Given the description of an element on the screen output the (x, y) to click on. 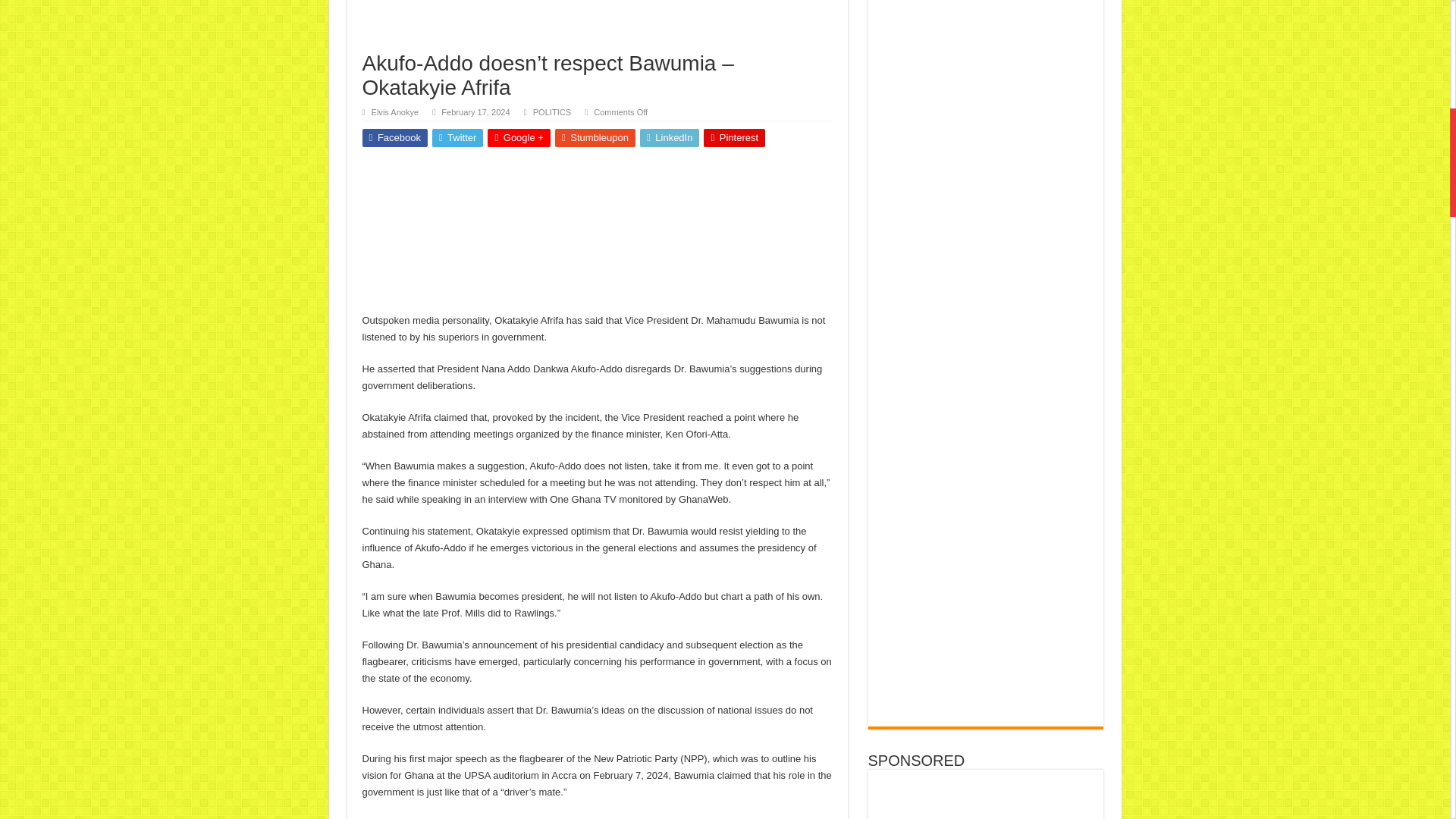
Scroll To Top (1427, 60)
POLITICS (551, 112)
Elvis Anokye (395, 112)
Twitter (457, 137)
Facebook (395, 137)
